Given the description of an element on the screen output the (x, y) to click on. 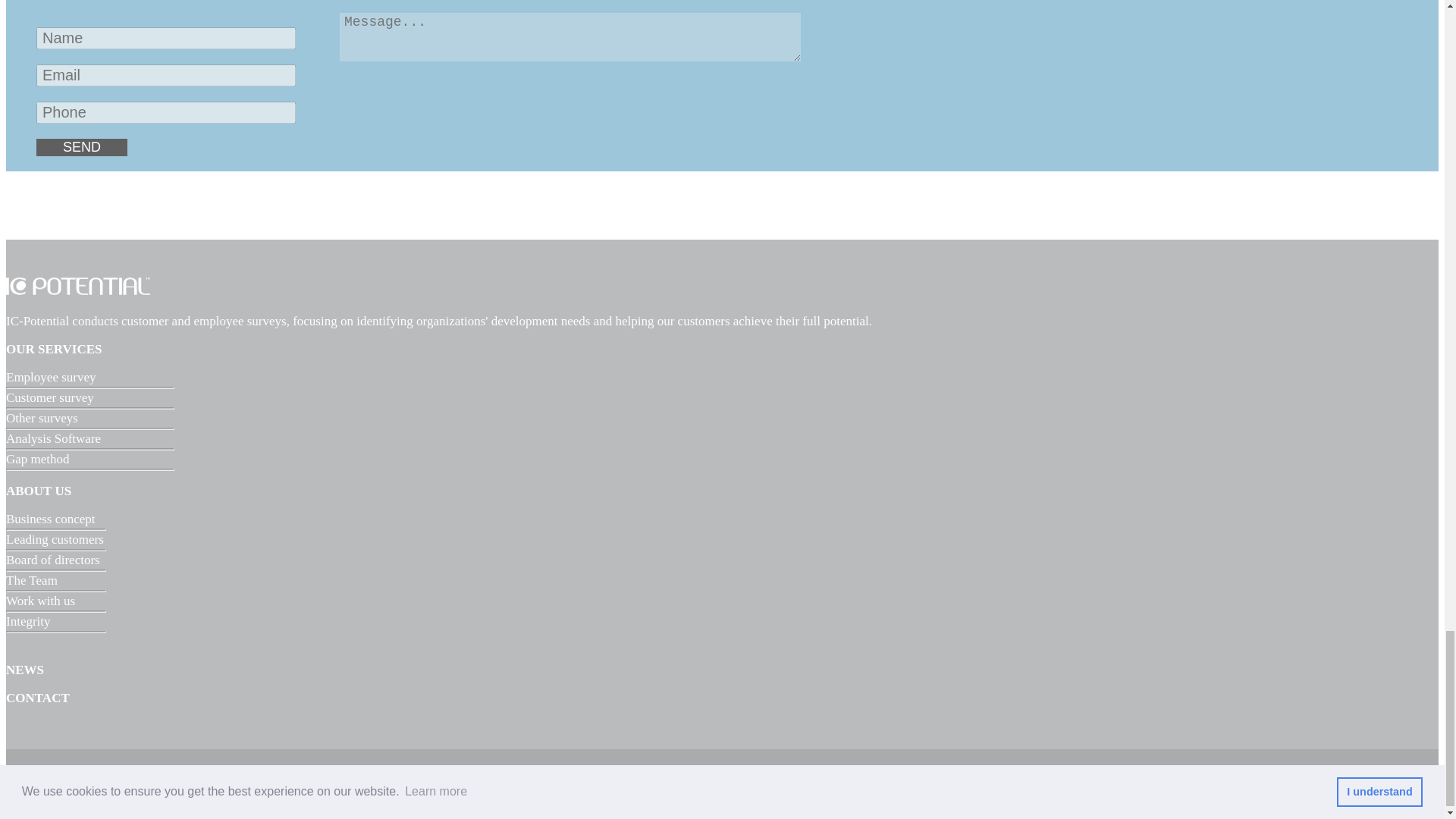
Employee survey (50, 377)
Analysis Software (52, 438)
Other surveys (41, 418)
SEND (82, 147)
SEND (82, 147)
Gap method (37, 459)
Customer survey (49, 397)
